Given the description of an element on the screen output the (x, y) to click on. 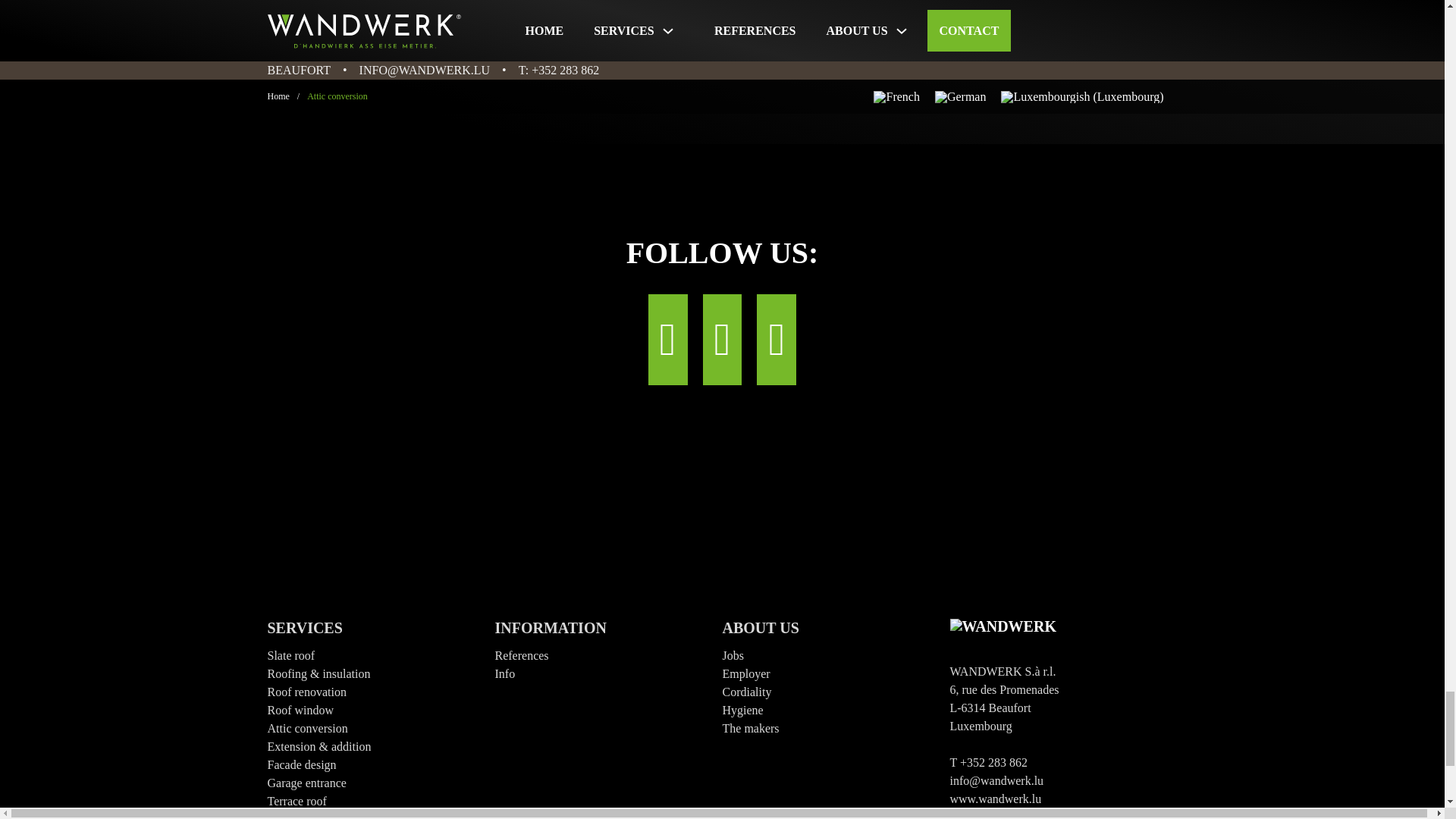
instagram (722, 339)
facebook (667, 339)
